Given the description of an element on the screen output the (x, y) to click on. 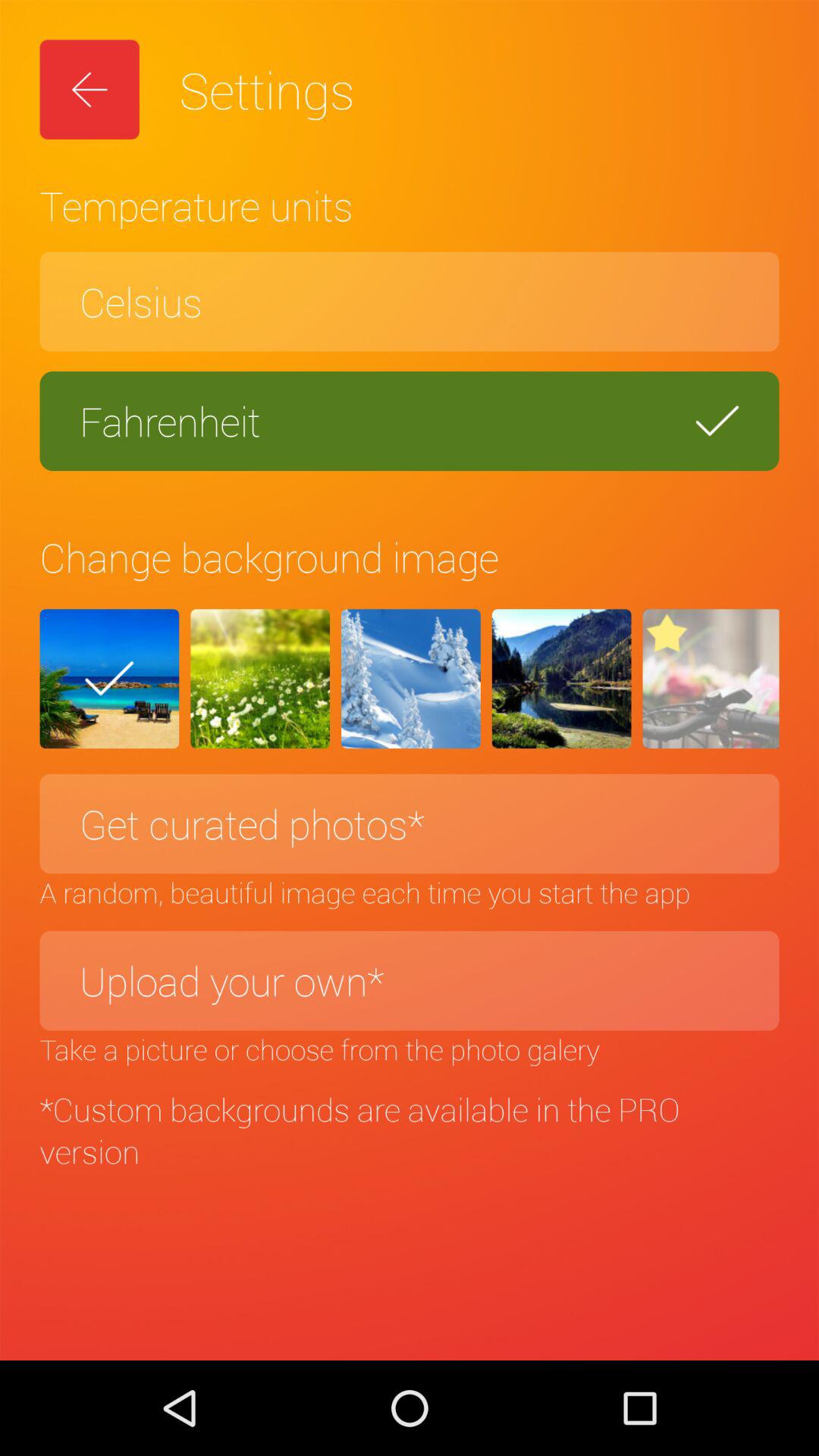
press the icon below change background image (710, 678)
